Given the description of an element on the screen output the (x, y) to click on. 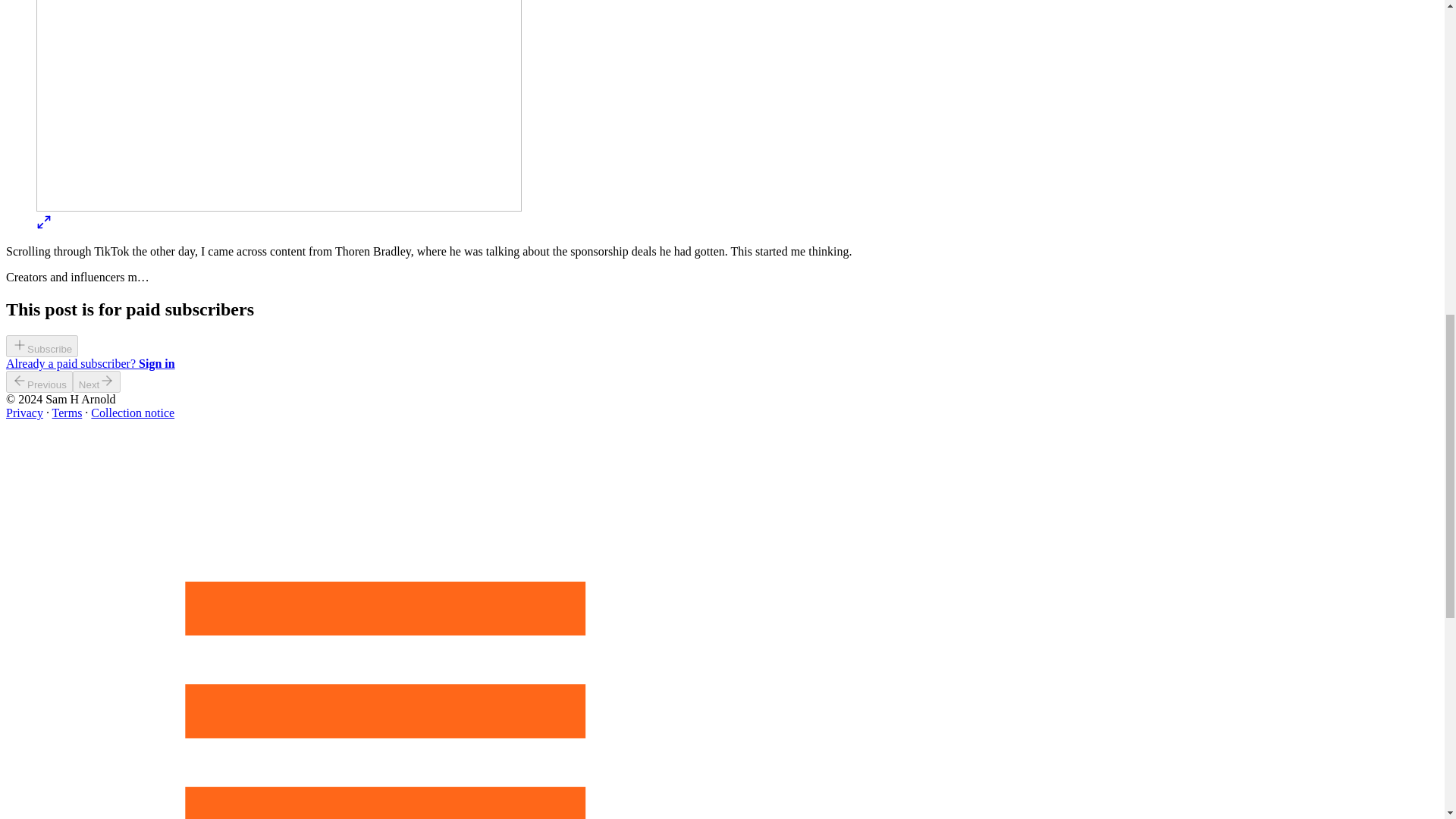
Previous (38, 382)
Already a paid subscriber? Sign in (89, 363)
Subscribe (41, 348)
Collection notice (132, 412)
Terms (67, 412)
Subscribe (41, 345)
Next (96, 382)
Privacy (24, 412)
